Given the description of an element on the screen output the (x, y) to click on. 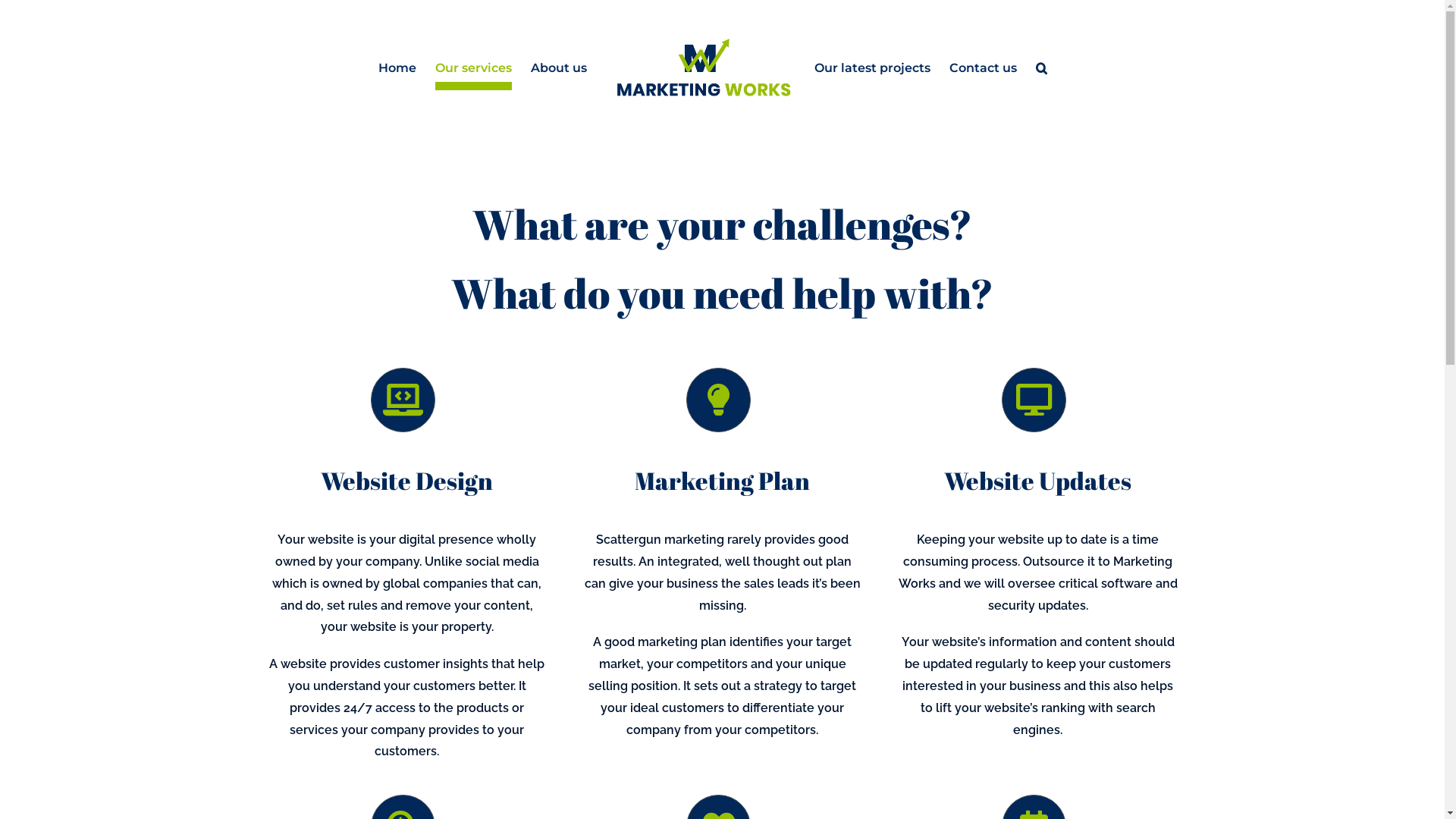
Search Element type: hover (1041, 67)
Contact us Element type: text (982, 67)
Our latest projects Element type: text (872, 67)
About us Element type: text (558, 67)
Our services Element type: text (473, 67)
Home Element type: text (397, 67)
